Given the description of an element on the screen output the (x, y) to click on. 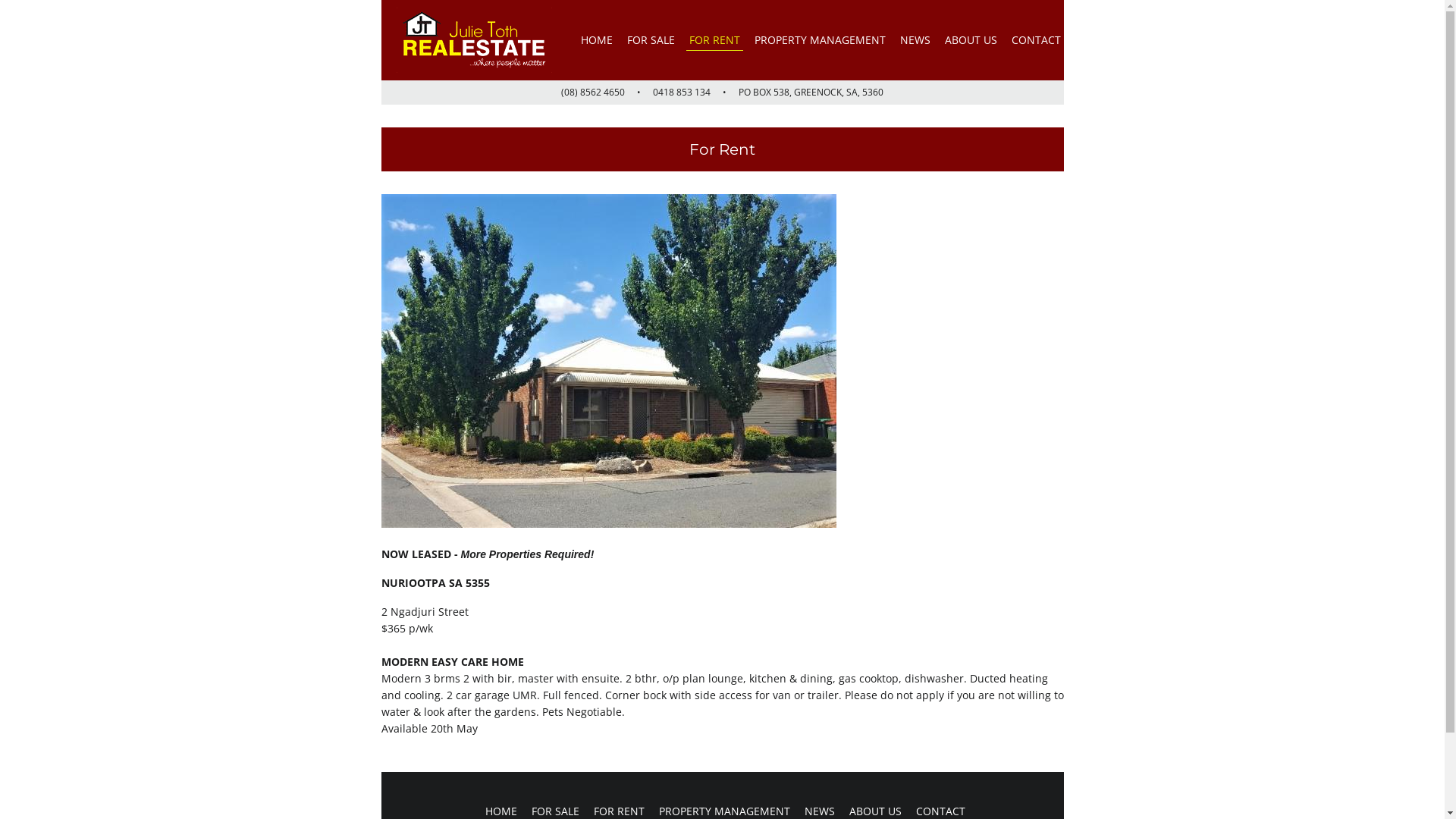
NEWS Element type: text (914, 39)
Julie Toth Real Estate Element type: text (473, 39)
FOR SALE Element type: text (650, 39)
CONTACT Element type: text (1035, 39)
HOME Element type: text (596, 39)
ABOUT US Element type: text (970, 39)
PROPERTY MANAGEMENT Element type: text (819, 39)
FOR RENT Element type: text (713, 39)
